Given the description of an element on the screen output the (x, y) to click on. 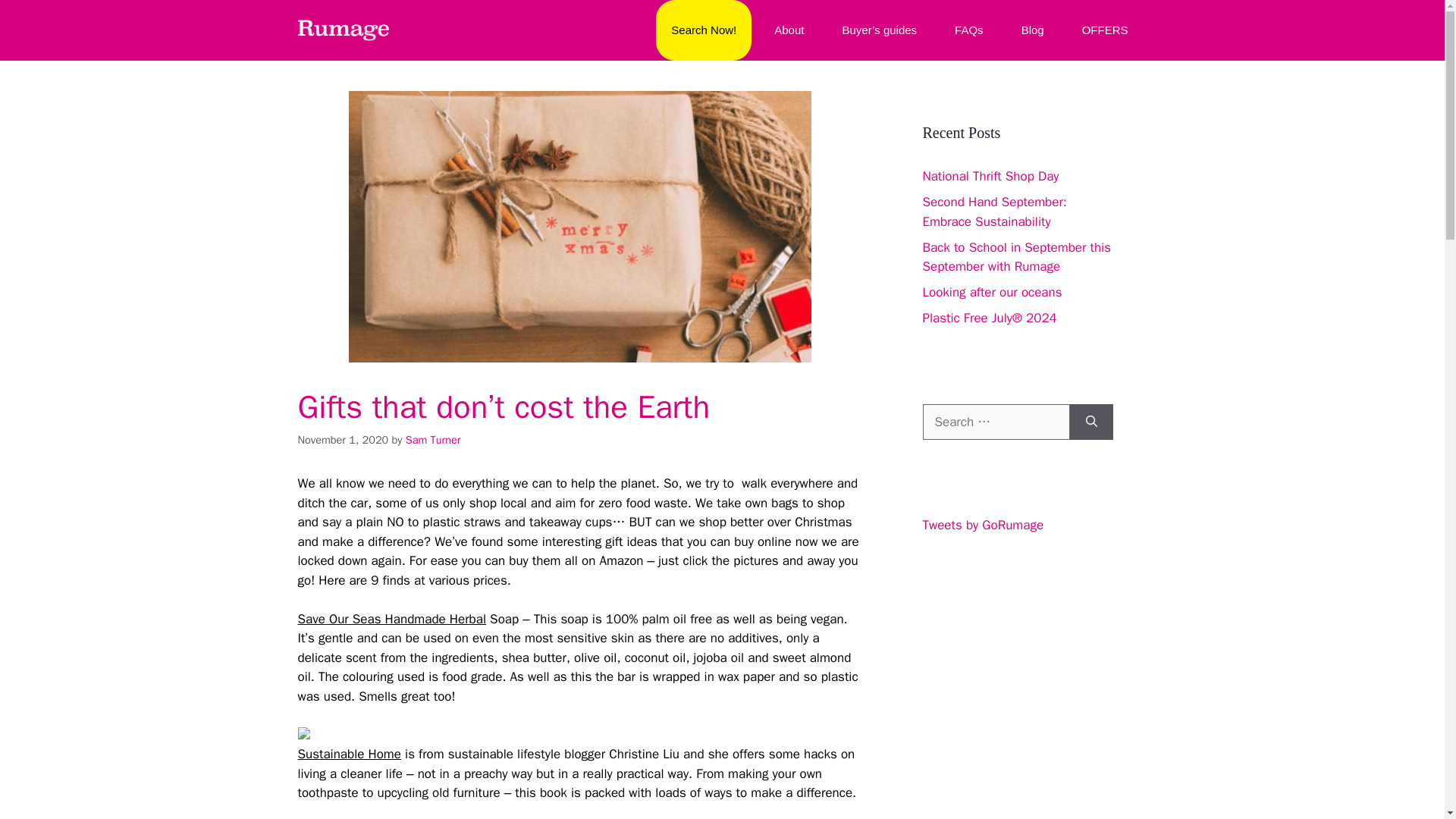
OFFERS (1104, 30)
About (788, 30)
Back to School in September this September with Rumage (1015, 257)
Sam Turner (433, 439)
Search Now! (703, 30)
Rumage (342, 30)
National Thrift Shop Day (989, 176)
Tweets by GoRumage (982, 524)
Looking after our oceans (991, 292)
Search for: (994, 421)
FAQs (968, 30)
Second Hand September: Embrace Sustainability (993, 212)
View all posts by Sam Turner (433, 439)
